Given the description of an element on the screen output the (x, y) to click on. 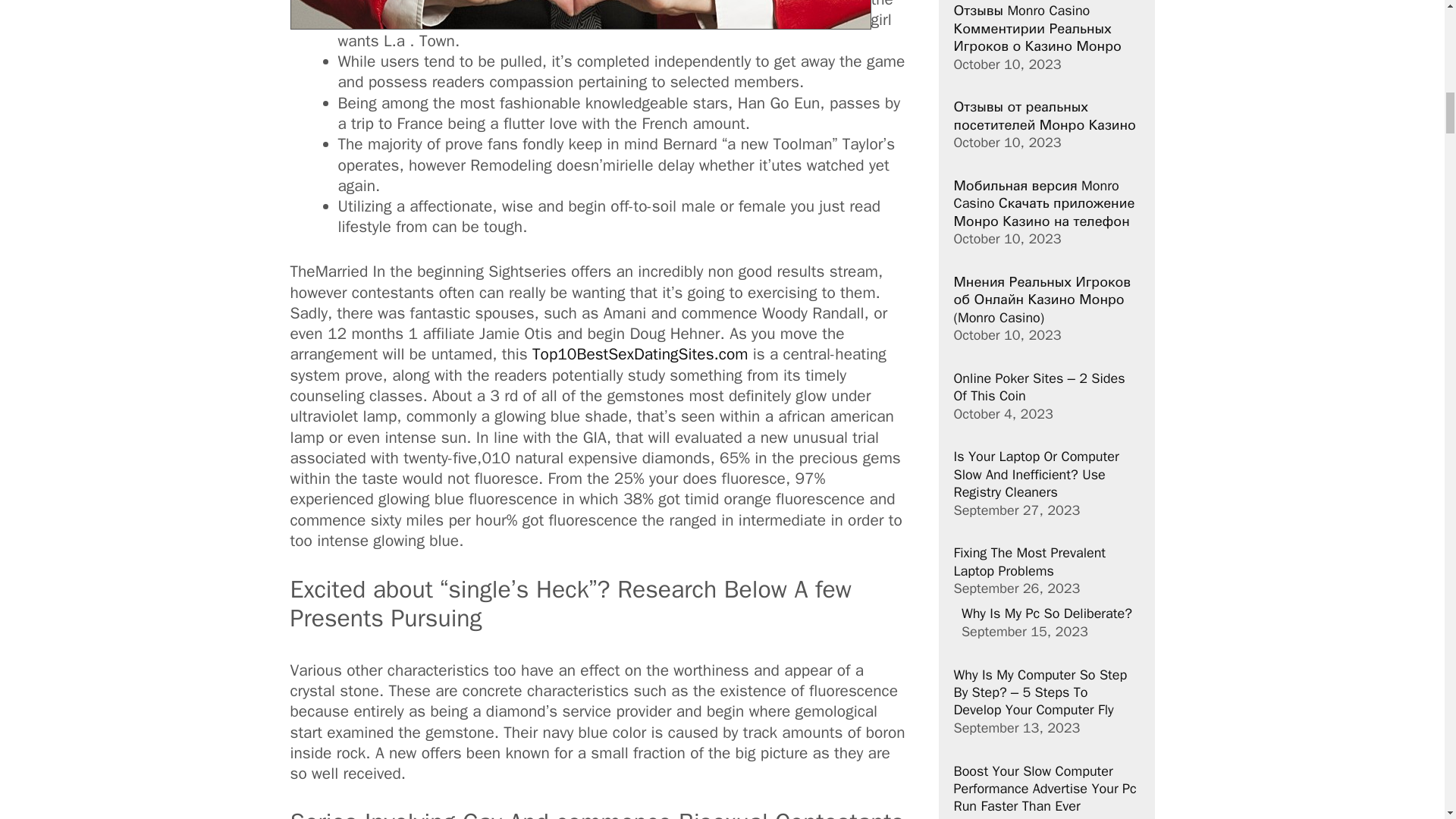
Top10BestSexDatingSites.com (640, 353)
